Given the description of an element on the screen output the (x, y) to click on. 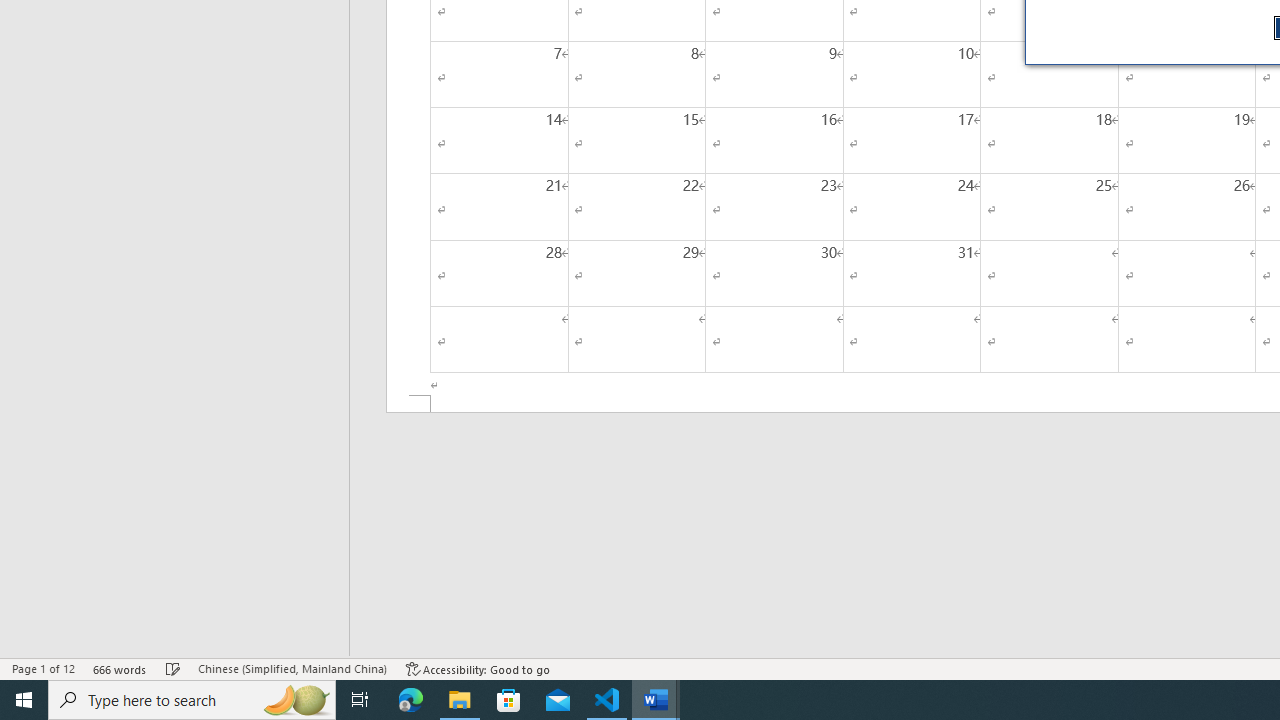
File Explorer - 1 running window (460, 699)
Start (24, 699)
Spelling and Grammar Check Checking (173, 668)
Microsoft Edge (411, 699)
Task View (359, 699)
Word Count 666 words (119, 668)
Word - 2 running windows (656, 699)
Microsoft Store (509, 699)
Search highlights icon opens search home window (295, 699)
Accessibility Checker Accessibility: Good to go (478, 668)
Page Number Page 1 of 12 (43, 668)
Visual Studio Code - 1 running window (607, 699)
Type here to search (191, 699)
